Given the description of an element on the screen output the (x, y) to click on. 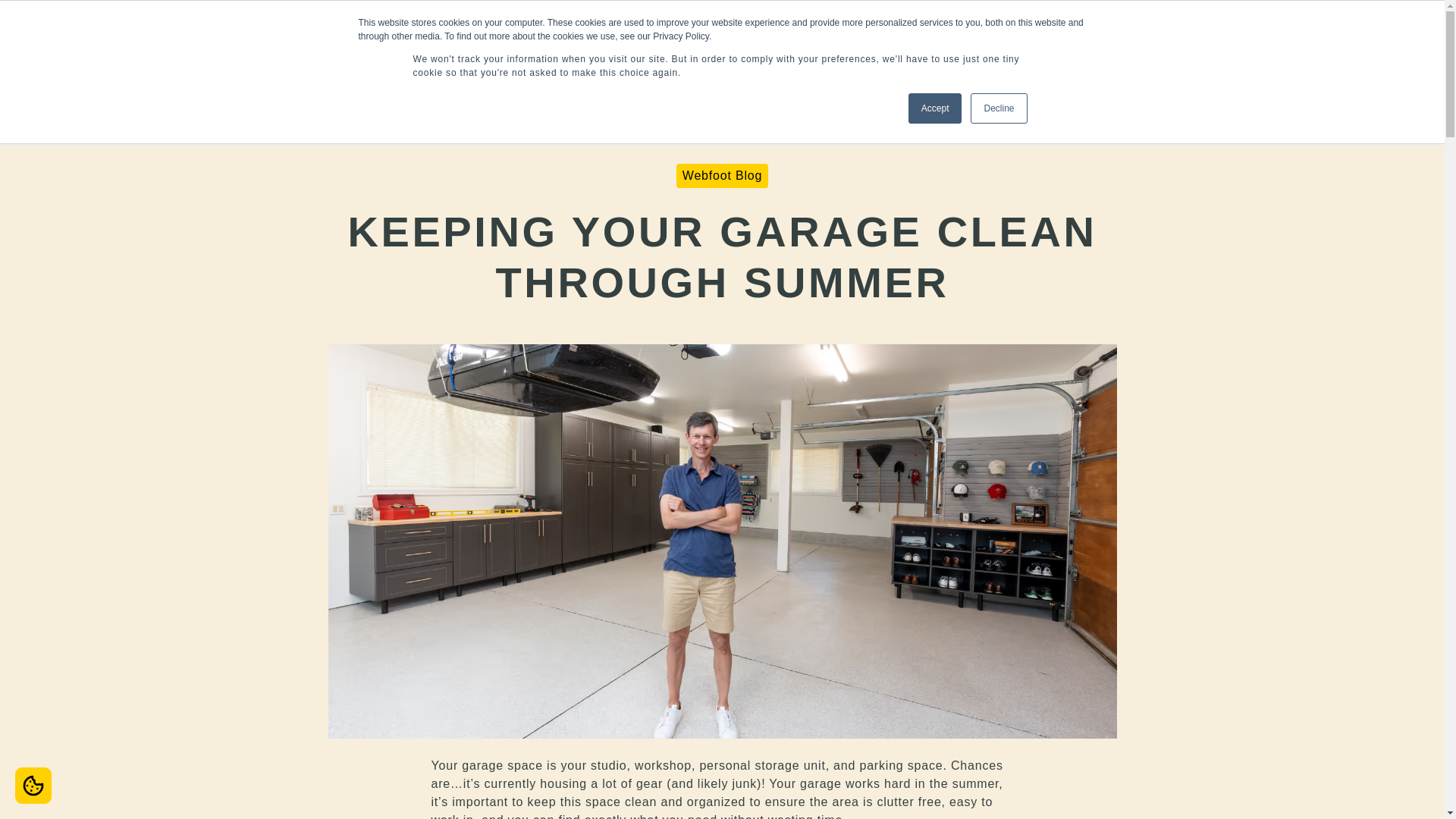
CONTACT US (1372, 28)
Webfoot Blog (722, 175)
PAINTING (744, 65)
CONCRETE COATINGS (1041, 65)
GARAGE STORAGE (1219, 65)
Accept (935, 108)
JOBS (1186, 29)
Cookie Preferences (32, 785)
541-390-0590 (1268, 29)
HEAT CABLES (1368, 66)
